Given the description of an element on the screen output the (x, y) to click on. 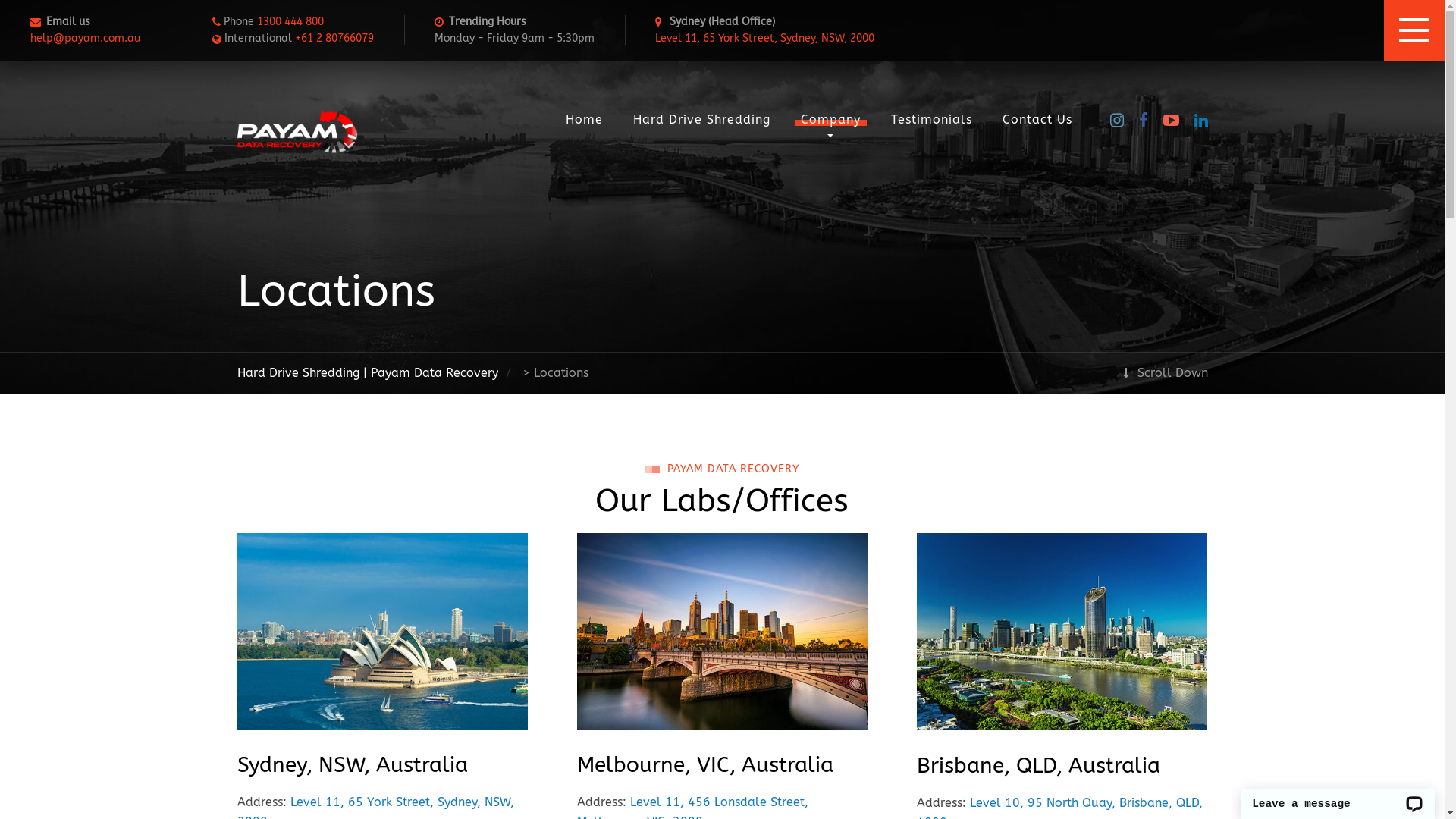
Contact Us Element type: text (1037, 119)
Scroll Down Element type: text (1165, 372)
Home Element type: text (583, 119)
Hard Drive Shredding Element type: text (700, 119)
Company Element type: text (830, 119)
Testimonials Element type: text (930, 119)
help@payam.com.au Element type: text (85, 37)
Level 11, 65 York Street, Sydney, NSW, 2000 Element type: text (764, 37)
+61 2 80766079 Element type: text (333, 37)
Hard Drive Shredding | Payam Data Recovery Element type: text (366, 372)
1300 444 800 Element type: text (290, 21)
